Given the description of an element on the screen output the (x, y) to click on. 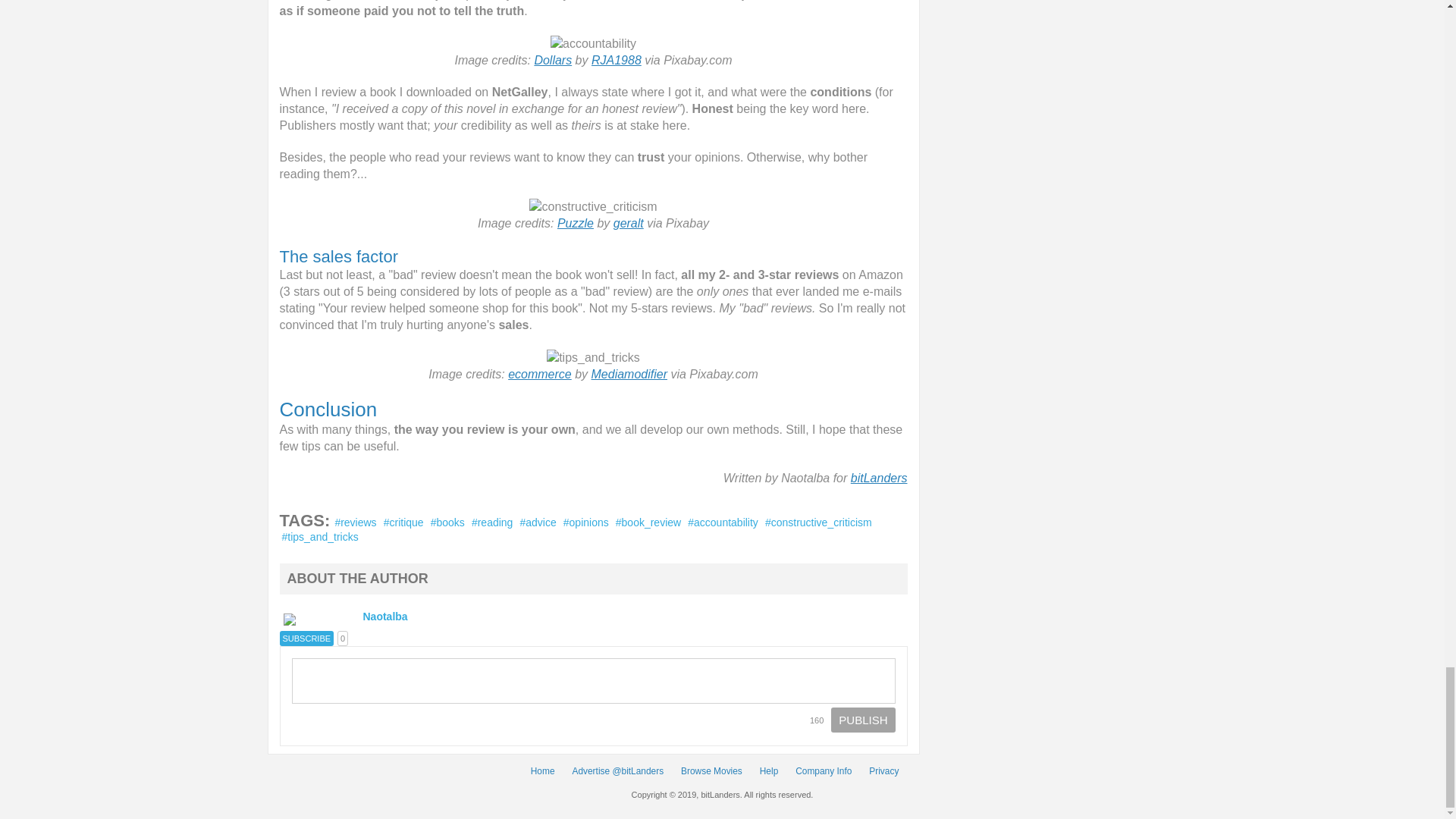
RJA1988 (616, 60)
ecommerce (540, 373)
Mediamodifier (628, 373)
Dollars (553, 60)
bitLanders (878, 477)
geralt (627, 223)
Puzzle (575, 223)
